Given the description of an element on the screen output the (x, y) to click on. 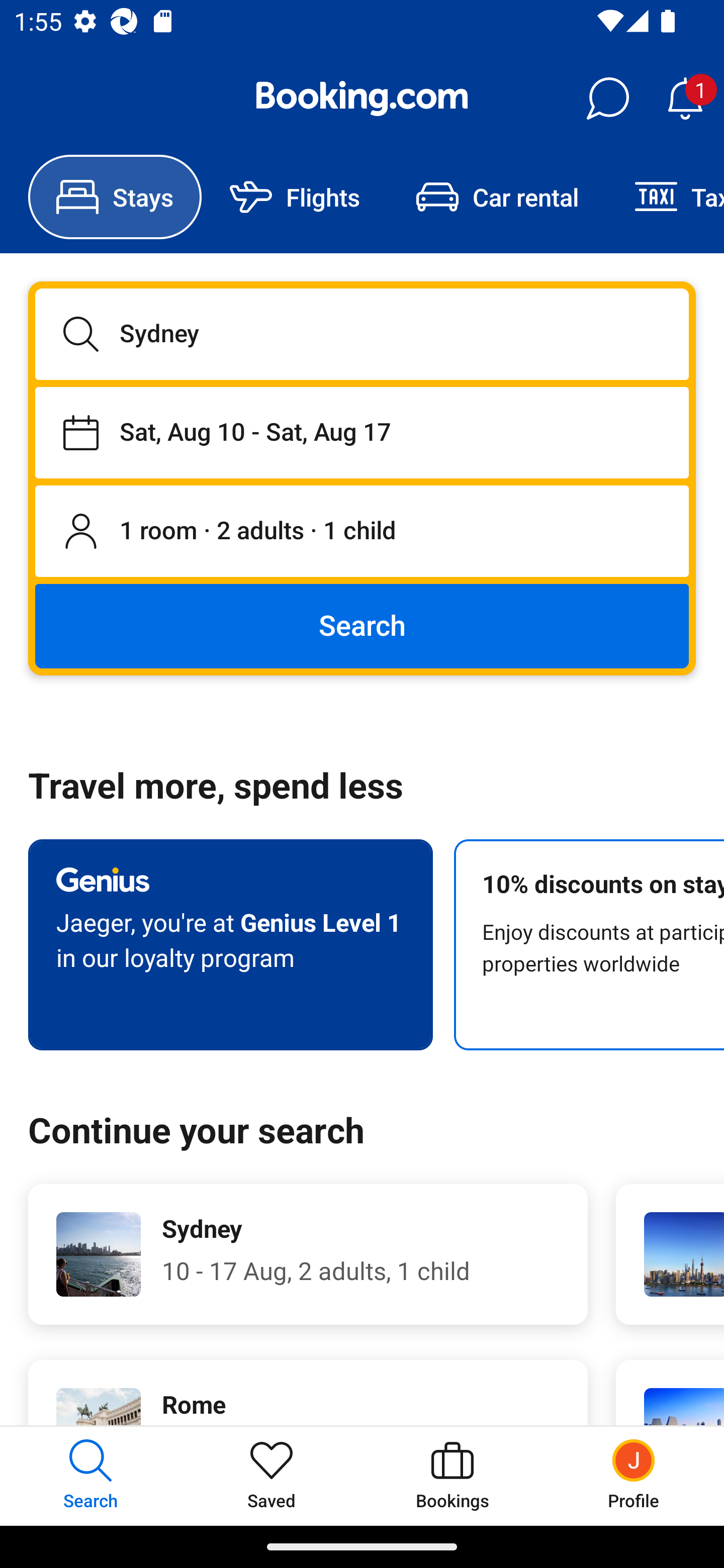
Messages (607, 98)
Notifications (685, 98)
Stays (114, 197)
Flights (294, 197)
Car rental (497, 197)
Taxi (665, 197)
Sydney (361, 333)
Staying from Sat, Aug 10 until Sat, Aug 17 (361, 432)
1 room, 2 adults, 1 child (361, 531)
Search (361, 625)
Sydney 10 - 17 Aug, 2 adults, 1 child (307, 1253)
Saved (271, 1475)
Bookings (452, 1475)
Profile (633, 1475)
